Given the description of an element on the screen output the (x, y) to click on. 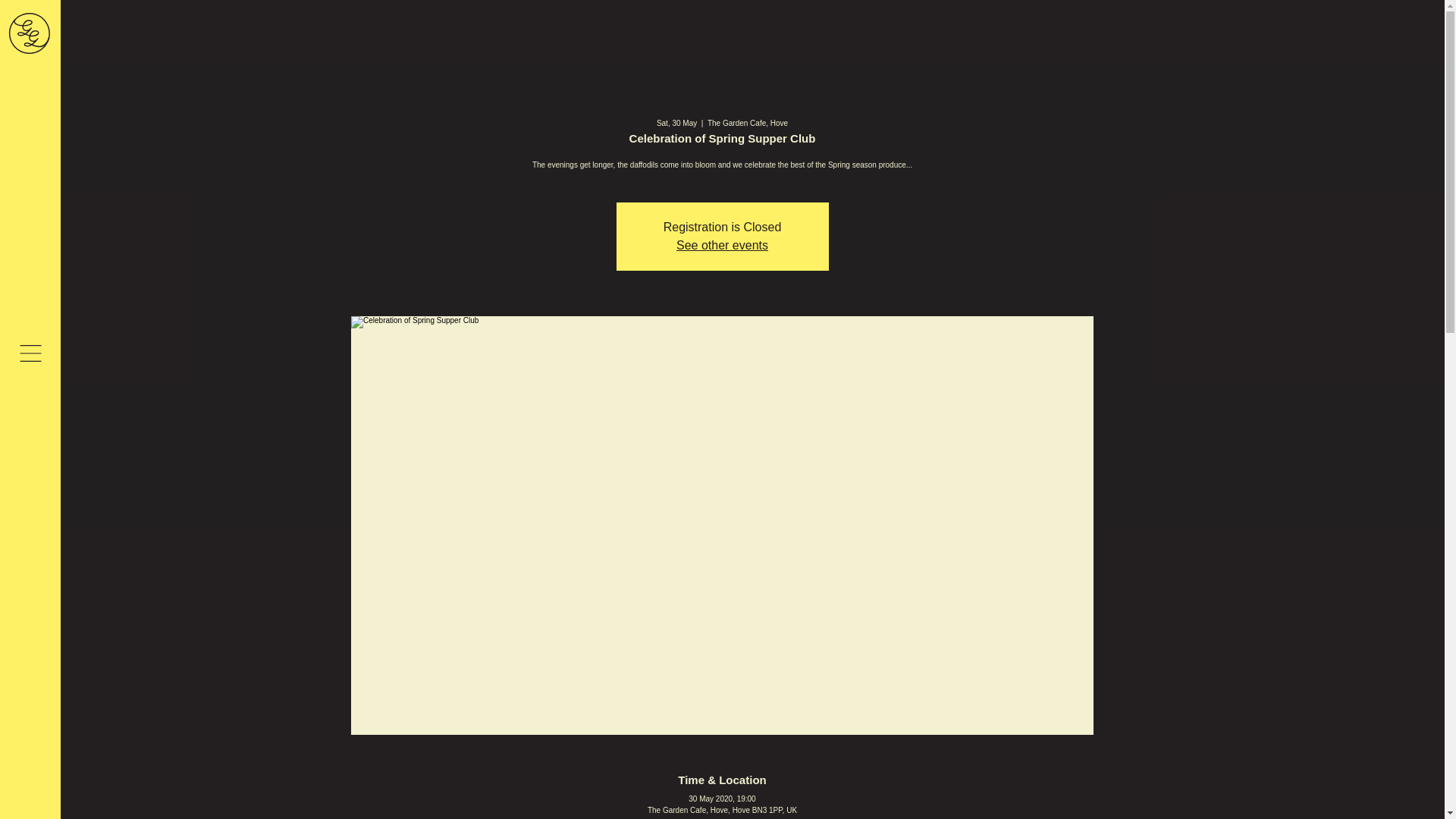
See other events (722, 245)
